Given the description of an element on the screen output the (x, y) to click on. 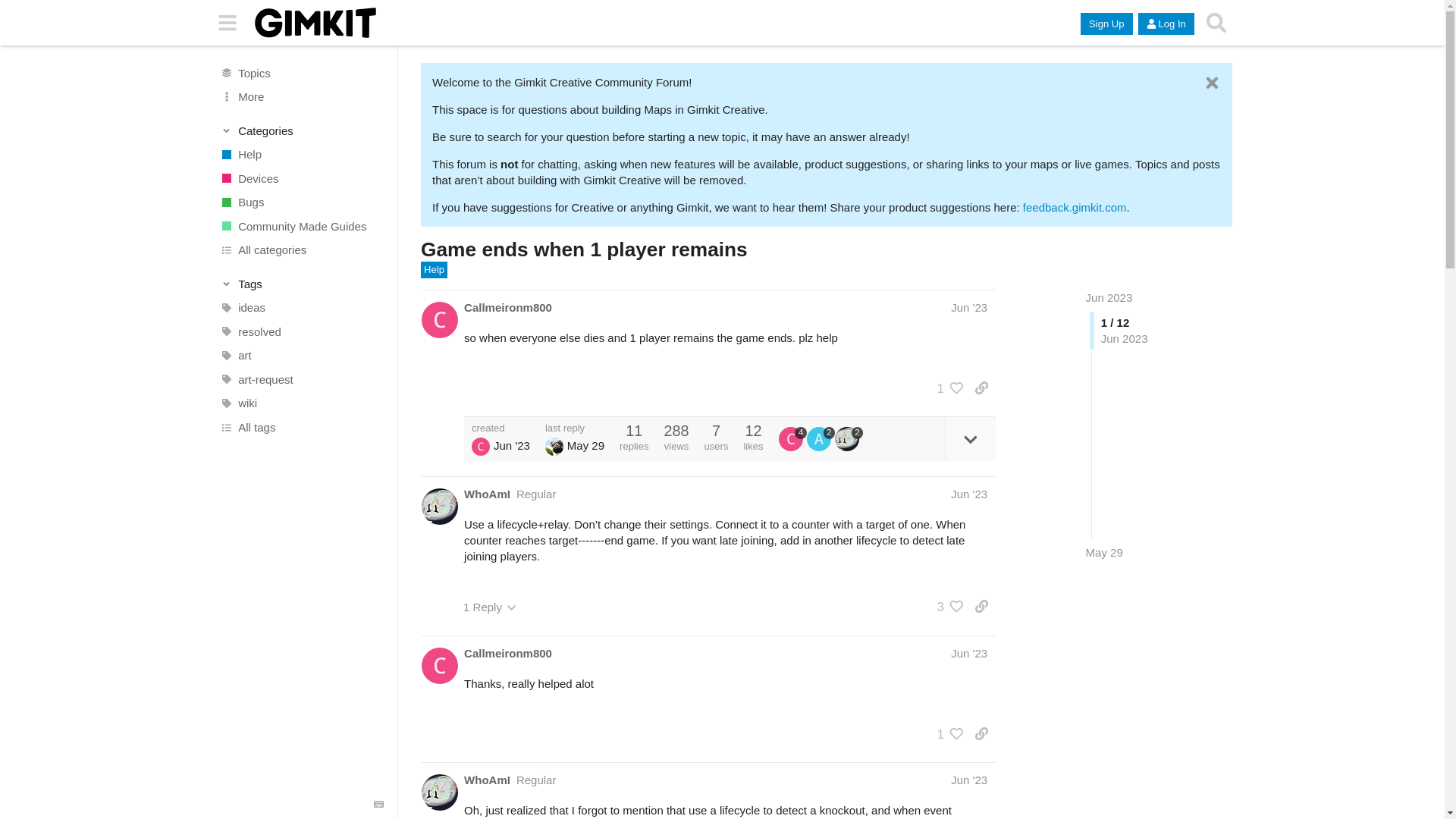
All categories (301, 250)
1 person liked this post (946, 388)
Dismiss this banner (1212, 82)
Toggle section (301, 130)
Community Made Guides (301, 225)
Jun 2023 (1109, 297)
art-request (301, 379)
Keyboard Shortcuts (378, 805)
Tags (301, 283)
Jun 2023 (1109, 297)
All topics (301, 72)
ideas (301, 307)
Search (1215, 22)
resolved (301, 331)
art (301, 355)
